Given the description of an element on the screen output the (x, y) to click on. 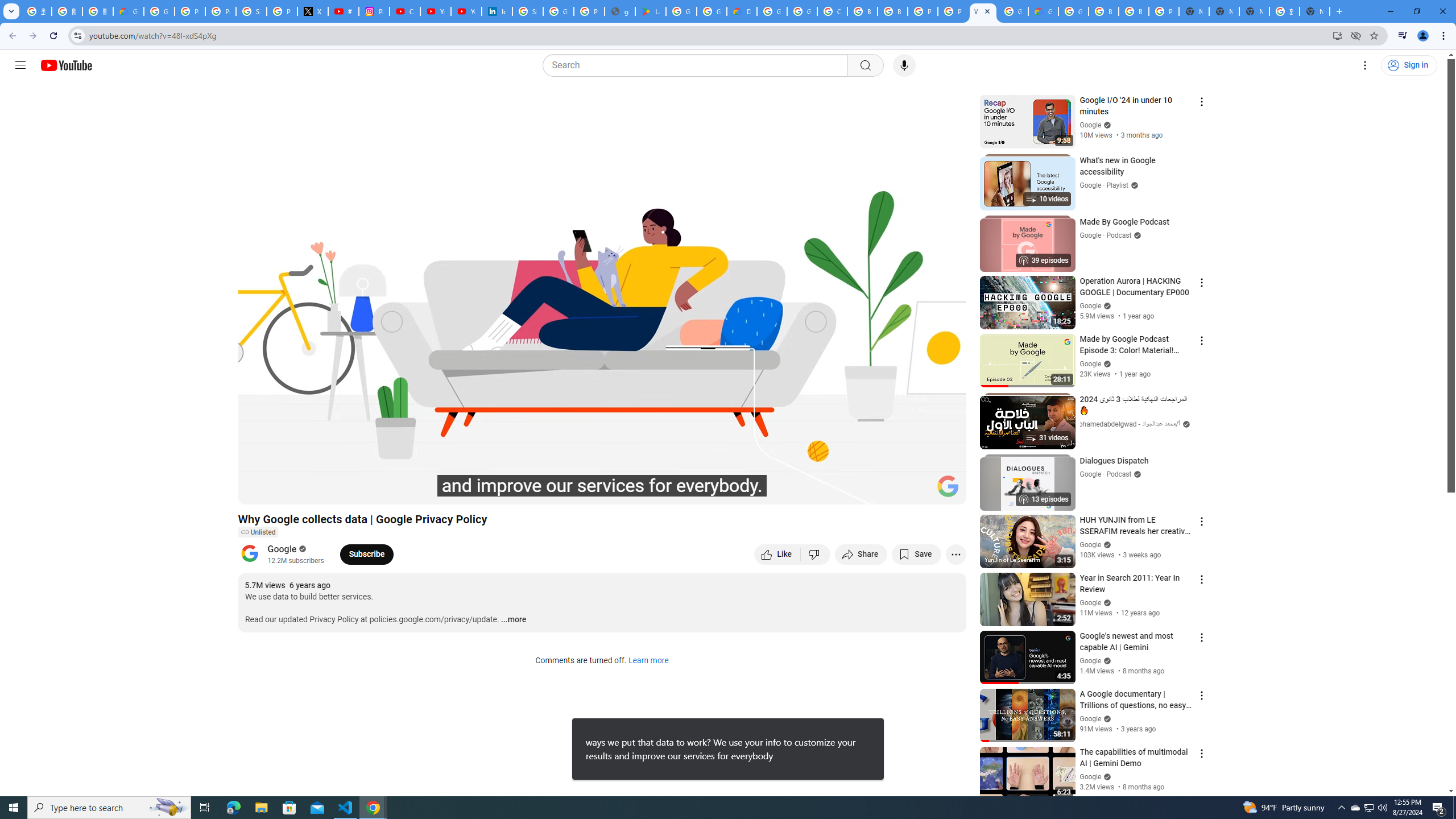
Full screen (f) (945, 490)
Install YouTube (1336, 35)
New Tab (1193, 11)
Google Cloud Platform (1012, 11)
#nbabasketballhighlights - YouTube (343, 11)
